Given the description of an element on the screen output the (x, y) to click on. 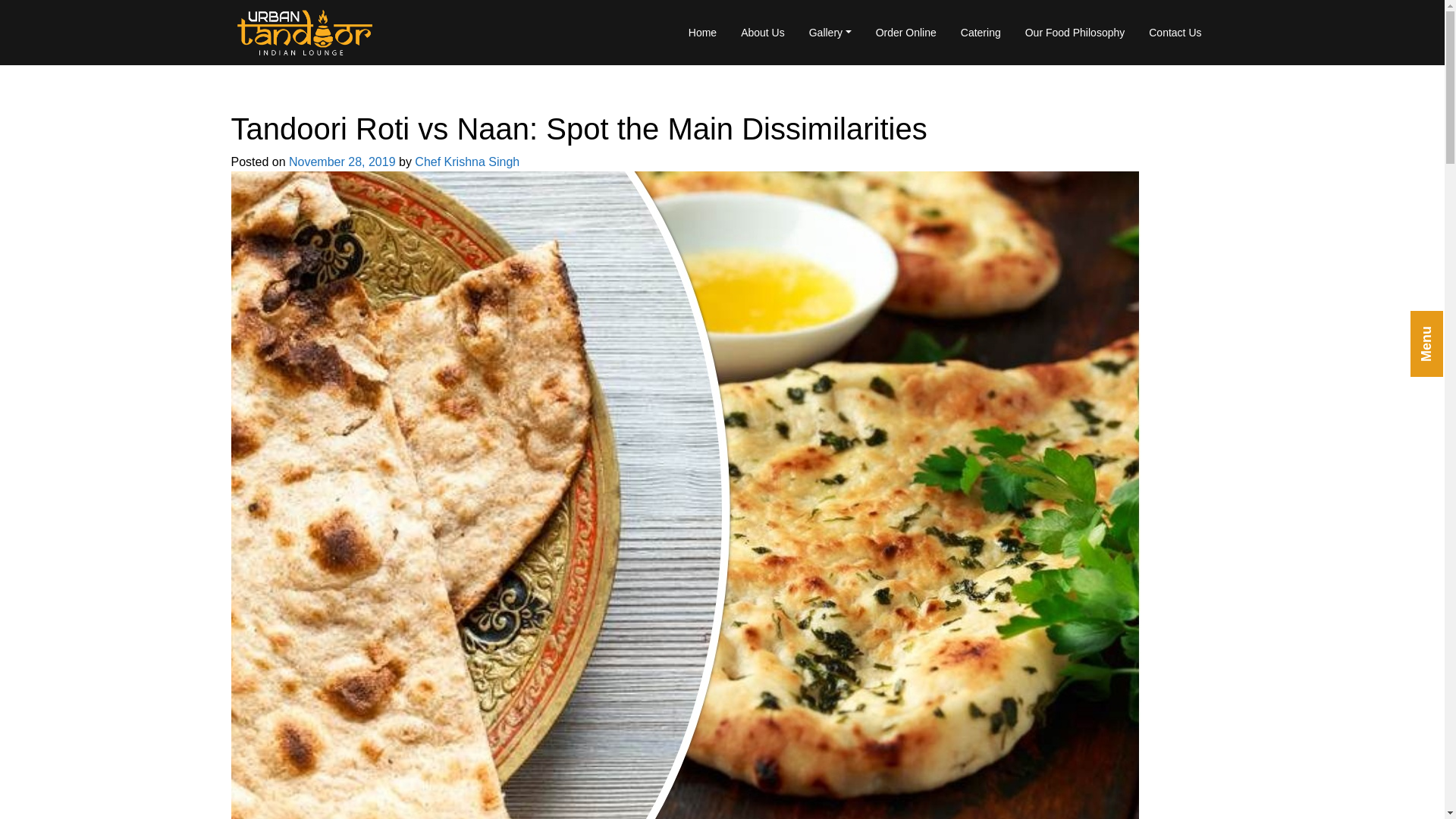
Contact Us (1174, 31)
About Us (762, 31)
Order Online (905, 31)
Our Food Philosophy (1075, 31)
Catering (981, 31)
November 28, 2019 (342, 161)
Chef Krishna Singh (466, 161)
Home (702, 31)
Gallery (830, 31)
